Given the description of an element on the screen output the (x, y) to click on. 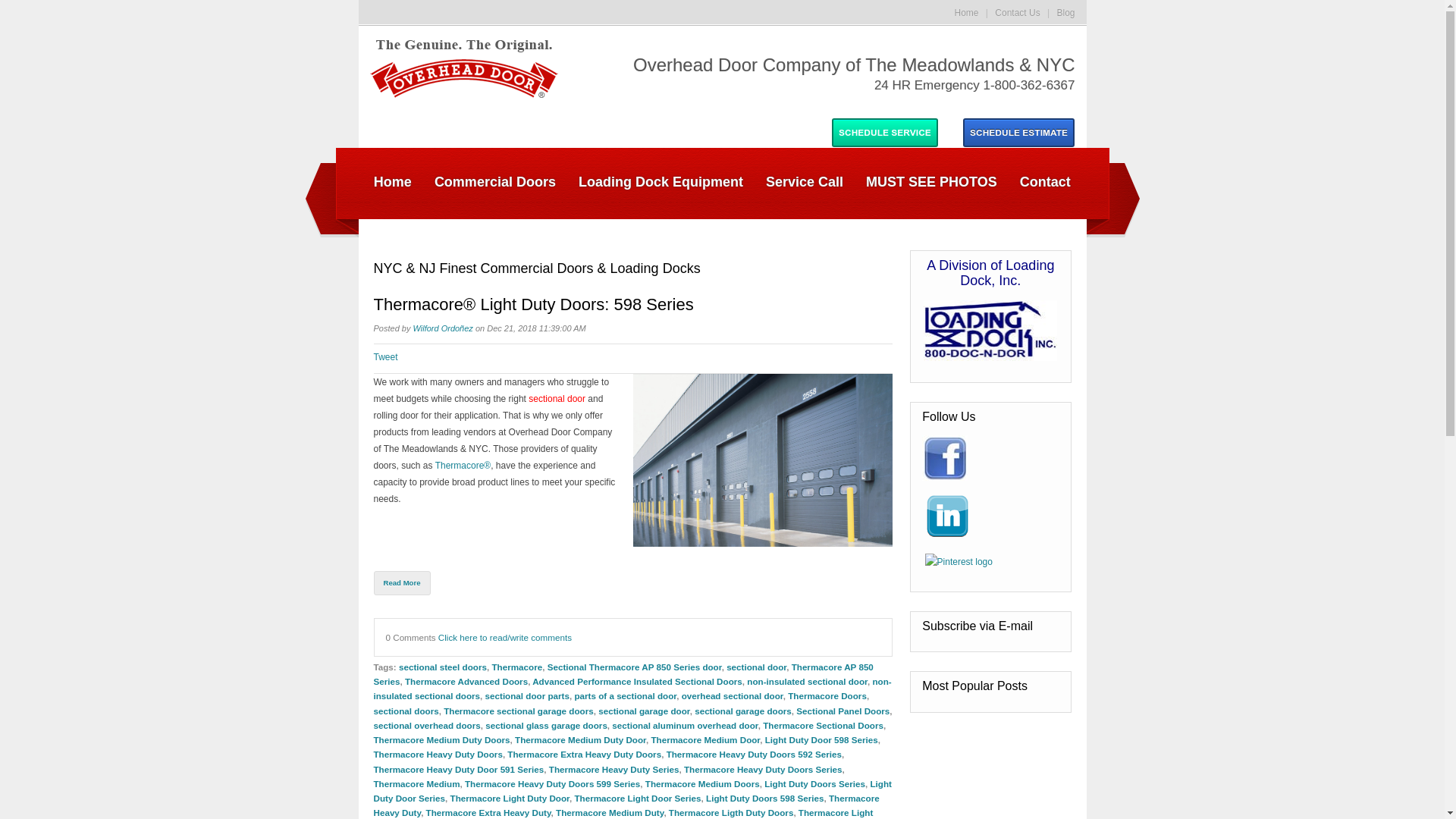
Contact Us (1016, 12)
Commercial Doors (495, 181)
Home (965, 12)
Blog (1064, 12)
Home (393, 181)
24 HR Emergency 1-800-362-6367 (842, 84)
